Given the description of an element on the screen output the (x, y) to click on. 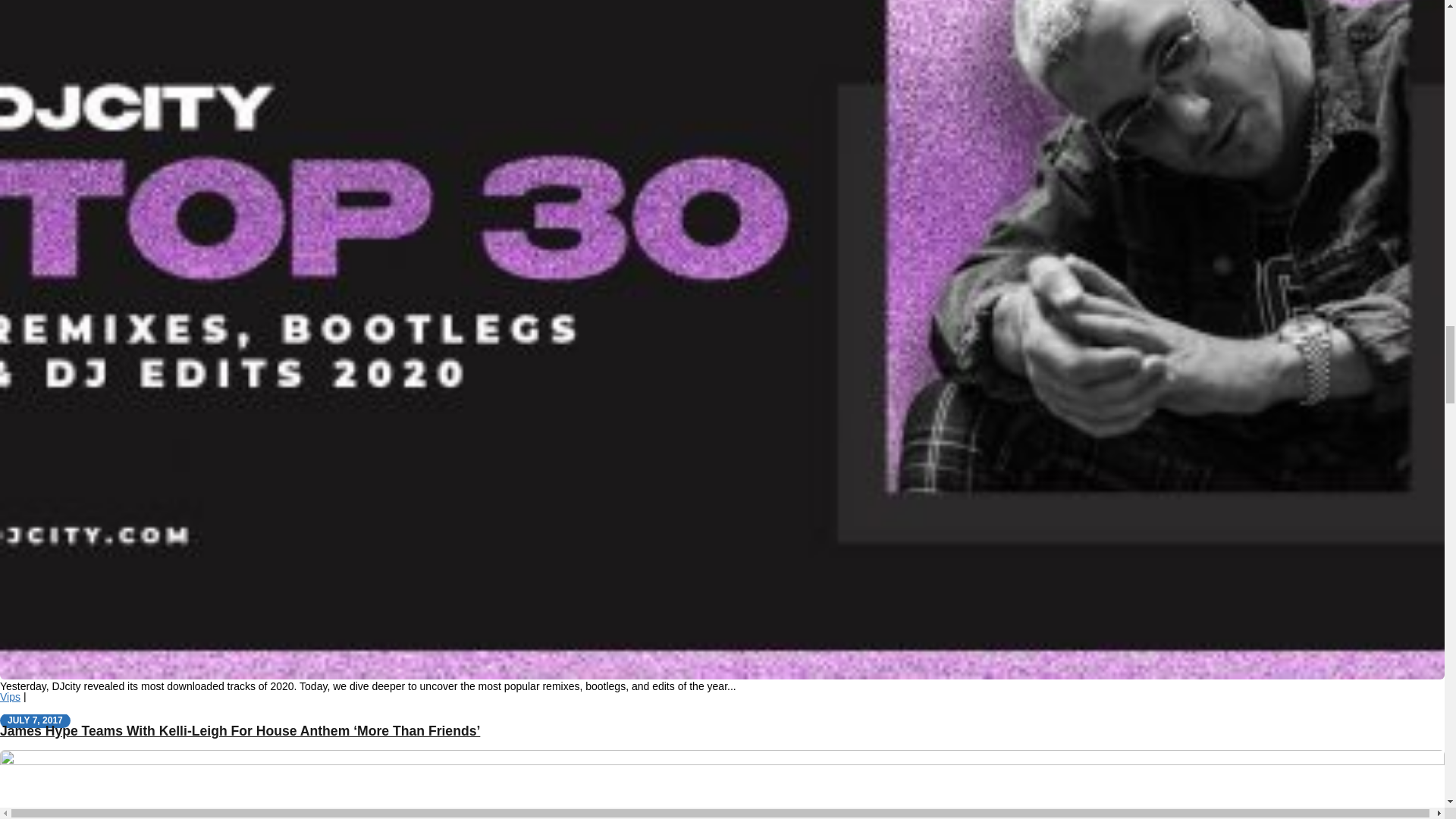
Vips (10, 696)
